Given the description of an element on the screen output the (x, y) to click on. 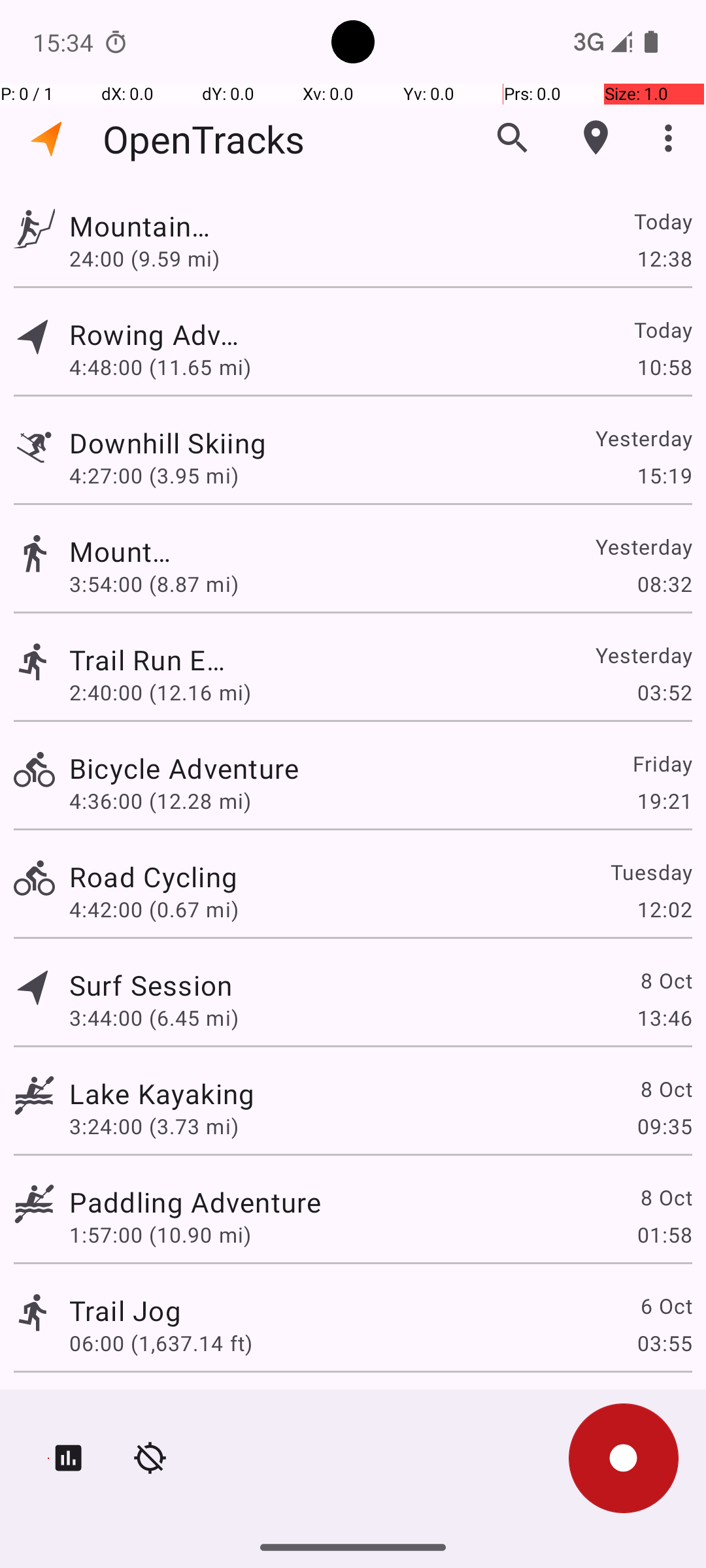
Mountain Climbing Element type: android.widget.TextView (150, 225)
24:00 (9.59 mi) Element type: android.widget.TextView (153, 258)
12:38 Element type: android.widget.TextView (664, 258)
Rowing Adventure Element type: android.widget.TextView (161, 333)
4:48:00 (11.65 mi) Element type: android.widget.TextView (159, 366)
10:58 Element type: android.widget.TextView (664, 366)
Downhill Skiing Element type: android.widget.TextView (194, 442)
4:27:00 (3.95 mi) Element type: android.widget.TextView (159, 475)
15:19 Element type: android.widget.TextView (664, 475)
Mountain Hike Element type: android.widget.TextView (124, 550)
3:54:00 (8.87 mi) Element type: android.widget.TextView (160, 583)
08:32 Element type: android.widget.TextView (664, 583)
Trail Run Expedition Element type: android.widget.TextView (149, 659)
2:40:00 (12.16 mi) Element type: android.widget.TextView (159, 692)
03:52 Element type: android.widget.TextView (664, 692)
Bicycle Adventure Element type: android.widget.TextView (183, 767)
4:36:00 (12.28 mi) Element type: android.widget.TextView (159, 800)
19:21 Element type: android.widget.TextView (664, 800)
Road Cycling Element type: android.widget.TextView (152, 876)
4:42:00 (0.67 mi) Element type: android.widget.TextView (153, 909)
12:02 Element type: android.widget.TextView (664, 909)
Surf Session Element type: android.widget.TextView (150, 984)
3:44:00 (6.45 mi) Element type: android.widget.TextView (153, 1017)
13:46 Element type: android.widget.TextView (664, 1017)
Lake Kayaking Element type: android.widget.TextView (161, 1092)
3:24:00 (3.73 mi) Element type: android.widget.TextView (153, 1125)
09:35 Element type: android.widget.TextView (664, 1125)
Paddling Adventure Element type: android.widget.TextView (194, 1201)
1:57:00 (10.90 mi) Element type: android.widget.TextView (159, 1234)
01:58 Element type: android.widget.TextView (664, 1234)
Trail Jog Element type: android.widget.TextView (124, 1309)
06:00 (1,637.14 ft) Element type: android.widget.TextView (160, 1342)
03:55 Element type: android.widget.TextView (664, 1342)
Slope Riding Element type: android.widget.TextView (149, 1408)
5 Oct Element type: android.widget.TextView (665, 1408)
